Given the description of an element on the screen output the (x, y) to click on. 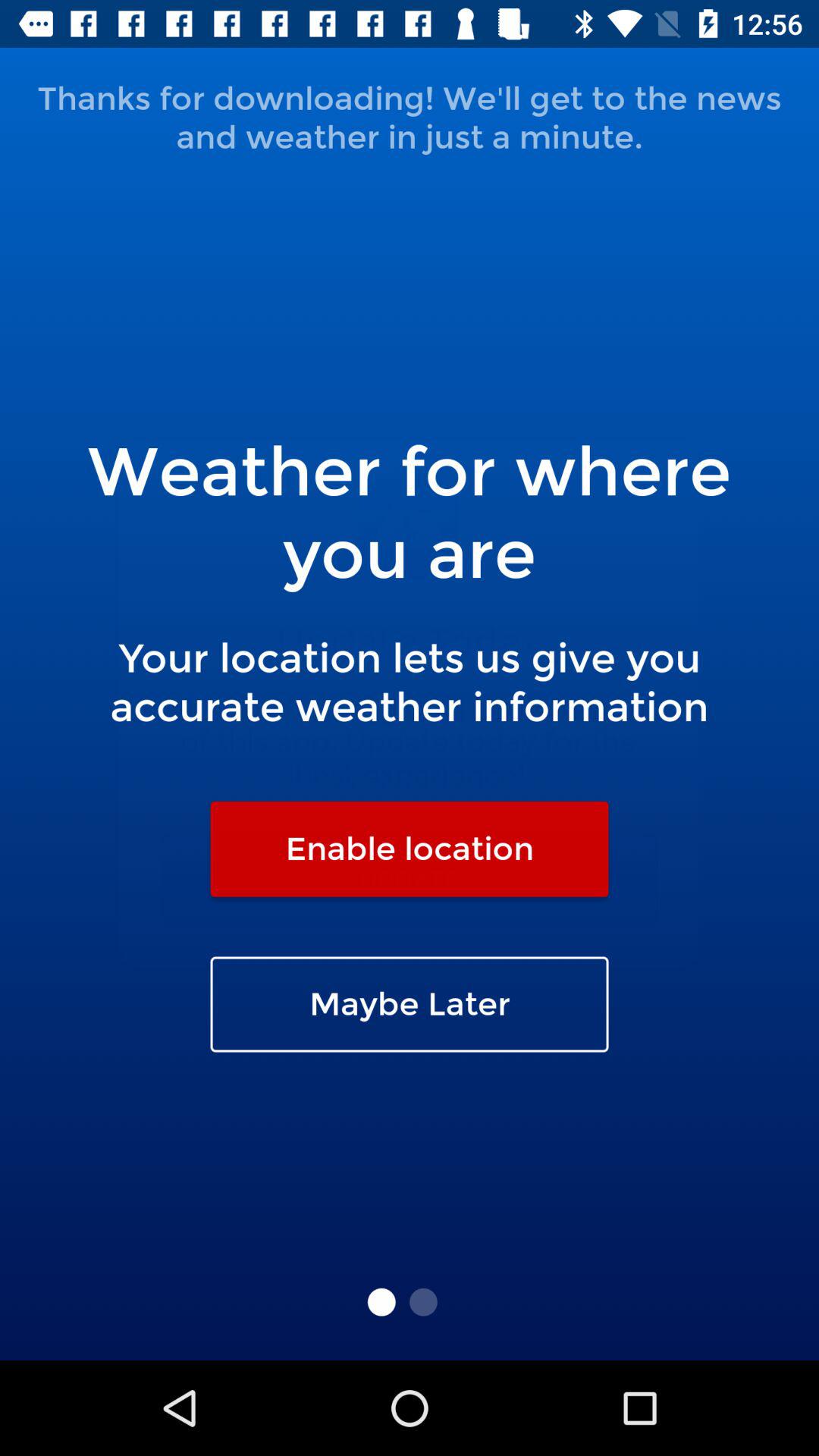
tap the enable location item (409, 848)
